Given the description of an element on the screen output the (x, y) to click on. 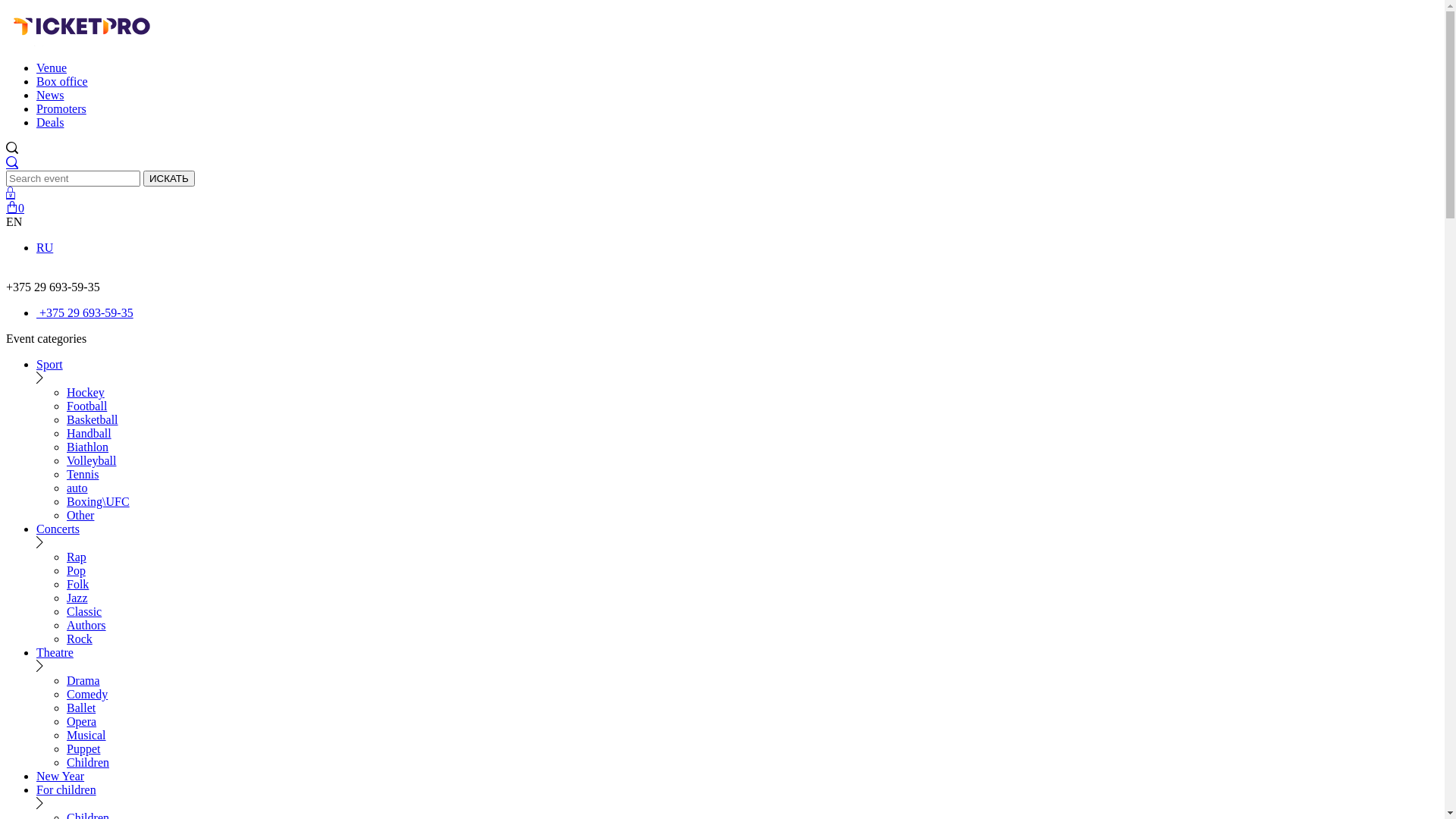
Drama Element type: text (83, 680)
Sport Element type: text (49, 363)
Venue Element type: text (51, 67)
Tennis Element type: text (82, 473)
Handball Element type: text (88, 432)
Concerts Element type: text (57, 528)
Promoters Element type: text (61, 108)
New Year Element type: text (60, 775)
Other Element type: text (80, 514)
Comedy Element type: text (86, 693)
Pop Element type: text (75, 570)
Ballet Element type: text (80, 707)
Authors Element type: text (86, 624)
Folk Element type: text (77, 583)
Classic Element type: text (83, 611)
Theatre Element type: text (54, 652)
Deals Element type: text (49, 122)
Football Element type: text (86, 405)
Volleyball Element type: text (91, 460)
Hockey Element type: text (85, 391)
Musical Element type: text (86, 734)
Box office Element type: text (61, 81)
Rock Element type: text (79, 638)
Boxing\UFC Element type: text (97, 501)
News Element type: text (49, 94)
+375 29 693-59-35 Element type: text (84, 312)
Rap Element type: text (76, 556)
For children Element type: text (66, 789)
Puppet Element type: text (83, 748)
0 Element type: text (15, 207)
Jazz Element type: text (76, 597)
RU Element type: text (44, 247)
Basketball Element type: text (92, 419)
Biathlon Element type: text (87, 446)
Children Element type: text (87, 762)
auto Element type: text (76, 487)
Opera Element type: text (81, 721)
